Given the description of an element on the screen output the (x, y) to click on. 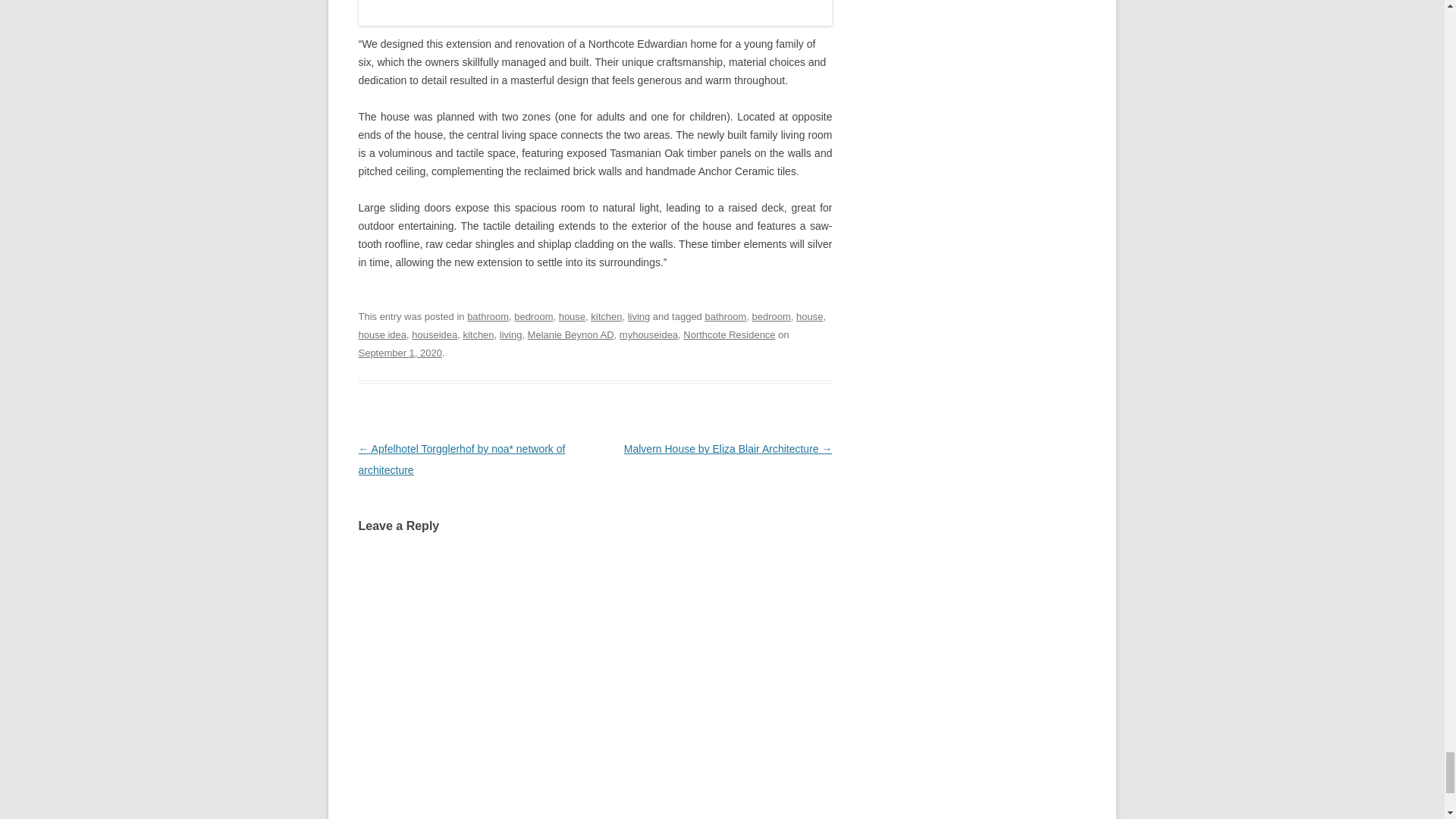
6:30 am (399, 352)
Comment Form (594, 686)
